Given the description of an element on the screen output the (x, y) to click on. 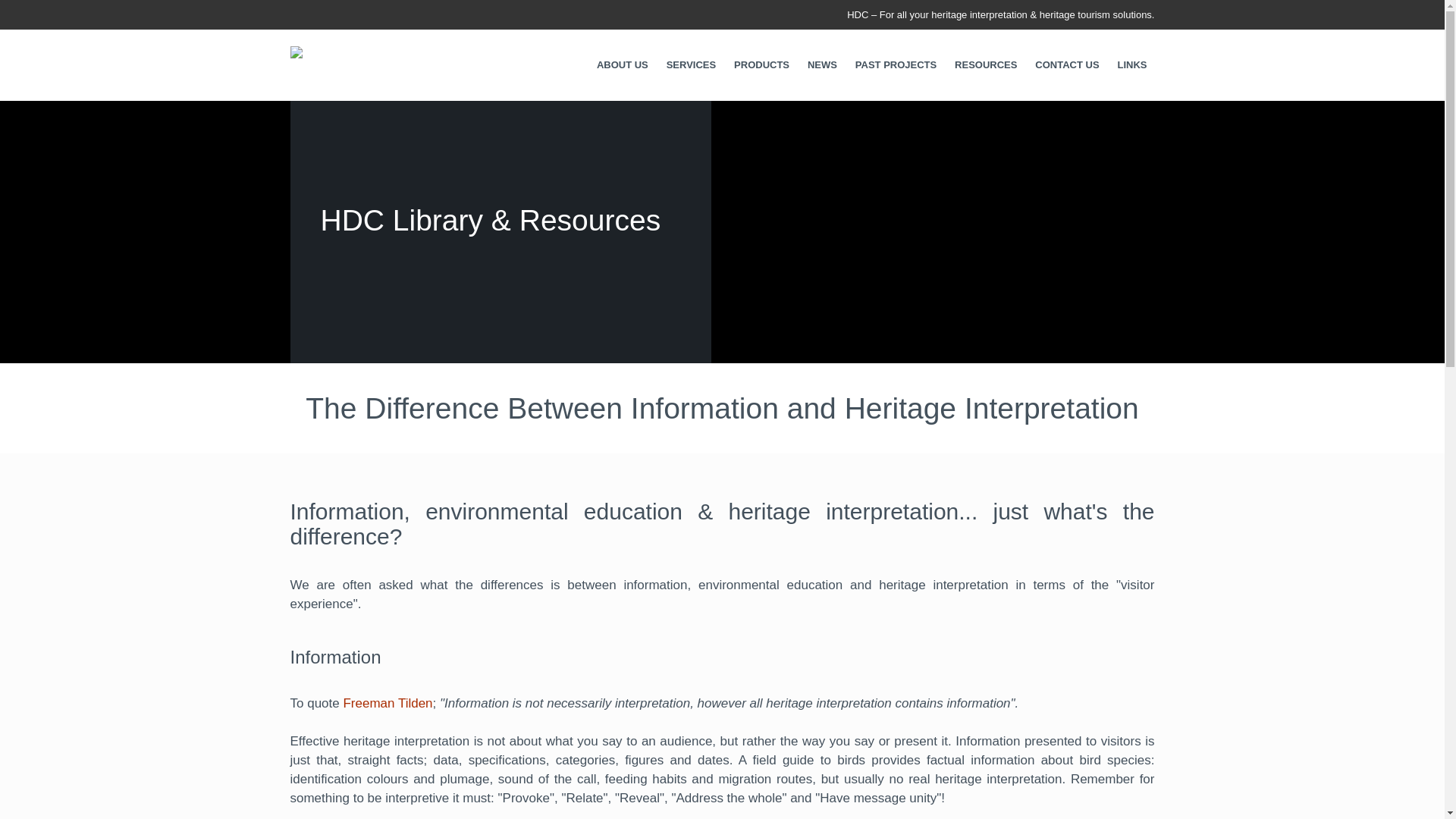
Freeman Tilden (387, 703)
CONTACT US (1066, 64)
PAST PROJECTS (895, 64)
ABOUT US (622, 64)
RESOURCES (986, 64)
PRODUCTS (761, 64)
SERVICES (691, 64)
